Given the description of an element on the screen output the (x, y) to click on. 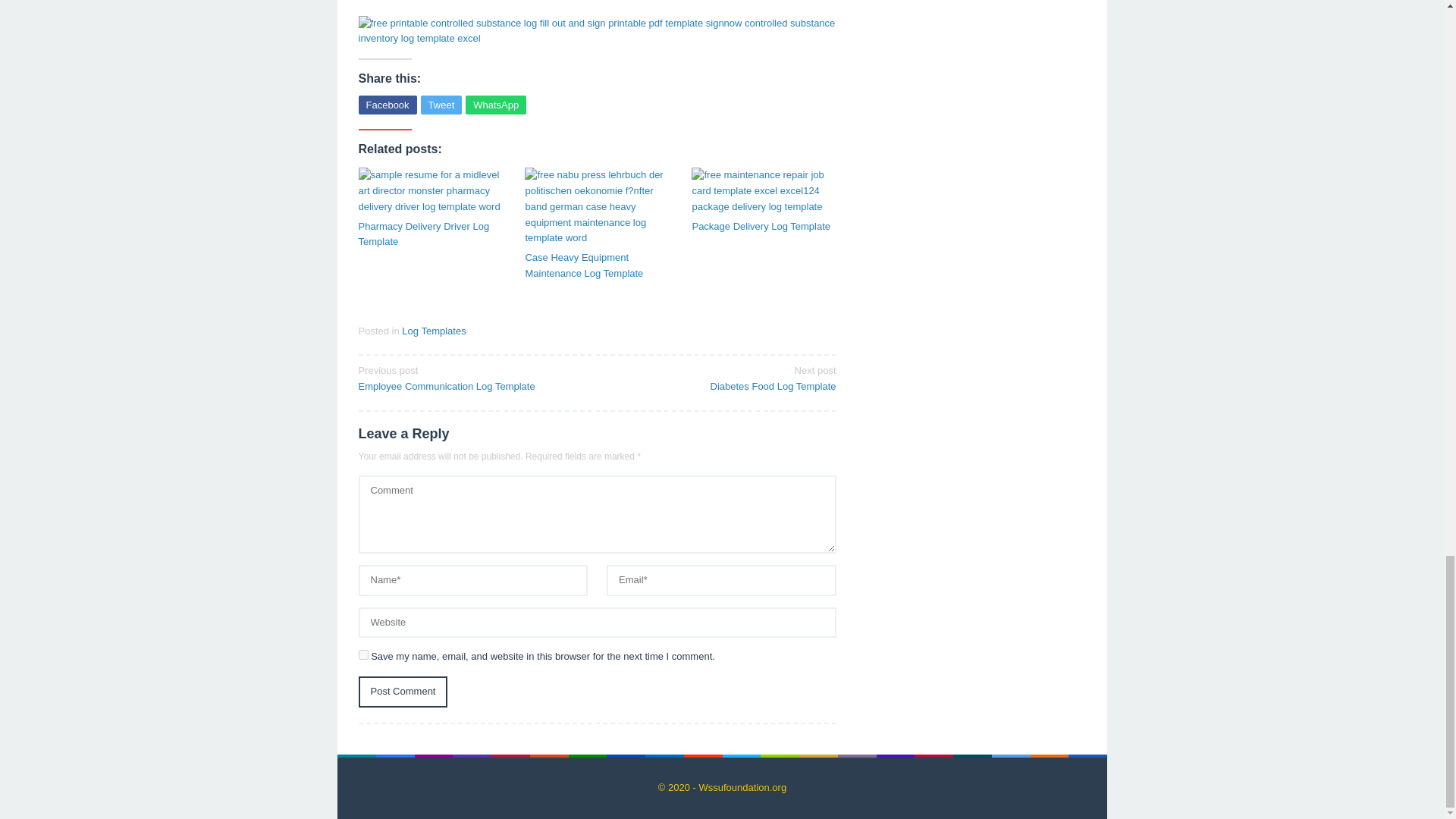
Permalink to: Package Delivery Log Template (763, 190)
Permalink to: Pharmacy Delivery Driver Log Template (430, 234)
Facebook (721, 377)
Post Comment (387, 104)
Tweet this (402, 691)
Permalink to: Package Delivery Log Template (441, 104)
Log Templates (763, 227)
Post Comment (433, 330)
Permalink to: Pharmacy Delivery Driver Log Template (472, 377)
WhatsApp (402, 691)
Pharmacy Delivery Driver Log Template (430, 190)
yes (495, 104)
Permalink to: Case Heavy Equipment Maintenance Log Template (430, 234)
